Given the description of an element on the screen output the (x, y) to click on. 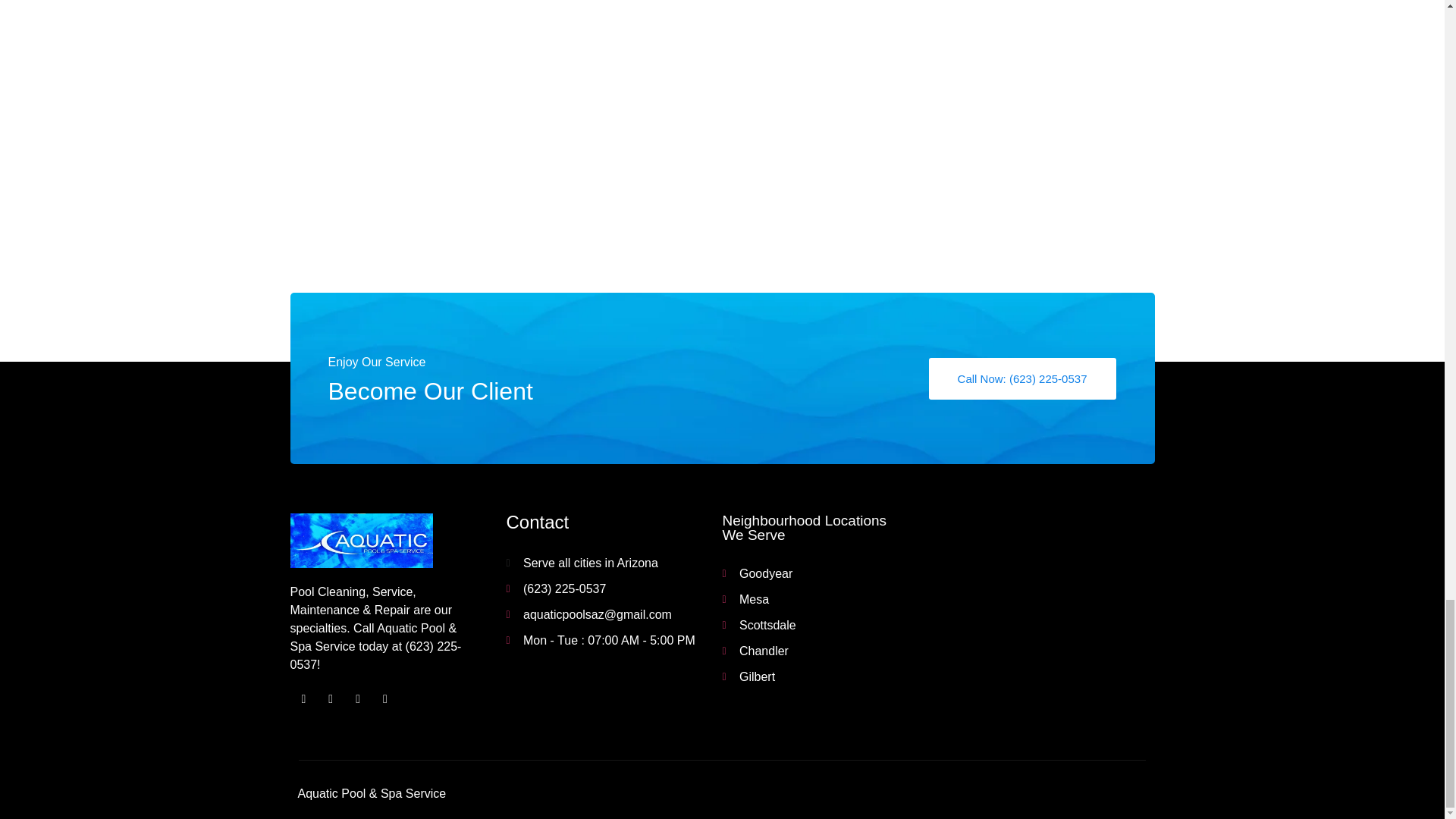
Form 0 (938, 138)
